Given the description of an element on the screen output the (x, y) to click on. 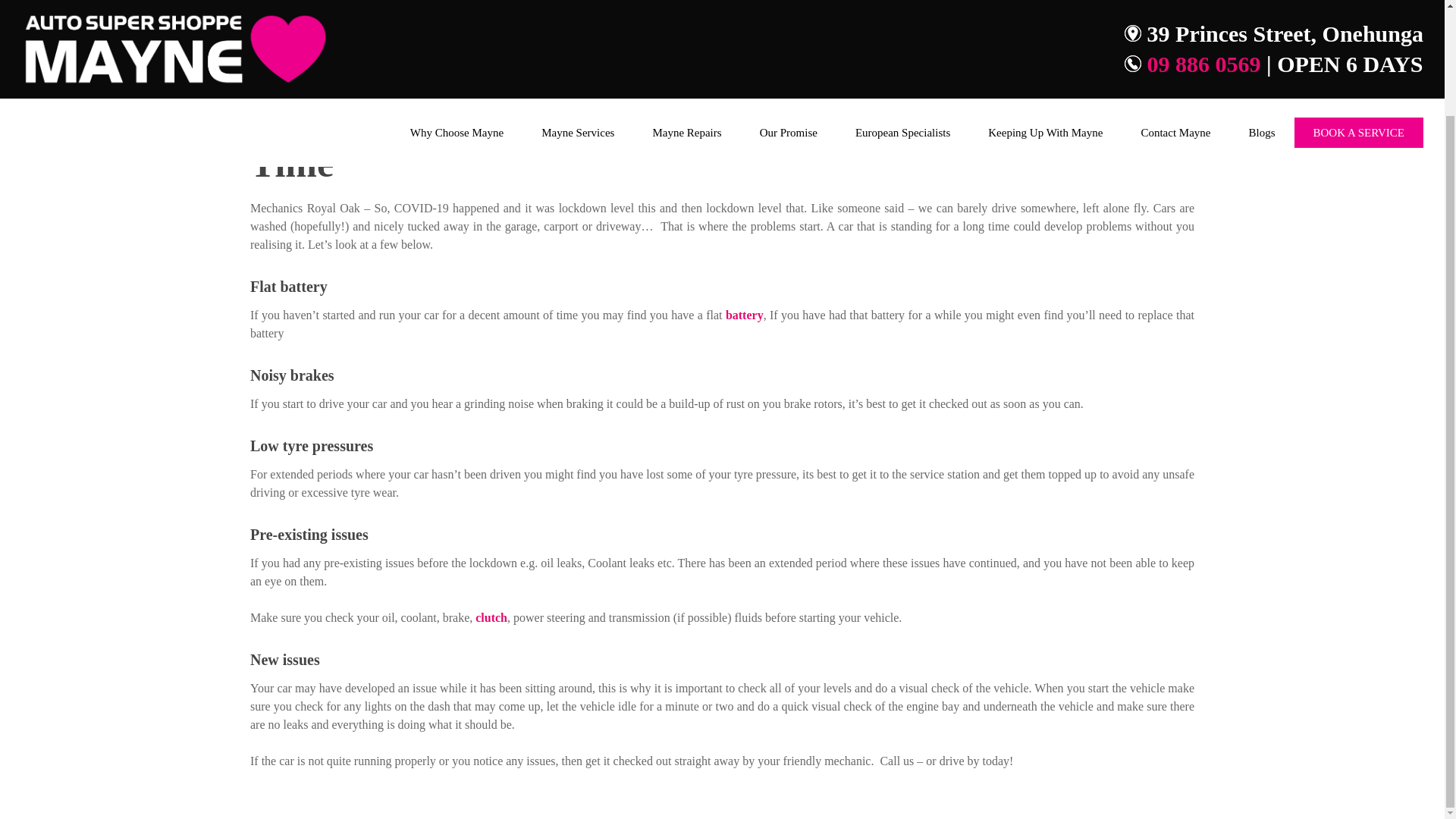
Why Choose Mayne (456, 7)
Mayne Services (577, 7)
Mayne Repairs (686, 7)
